Given the description of an element on the screen output the (x, y) to click on. 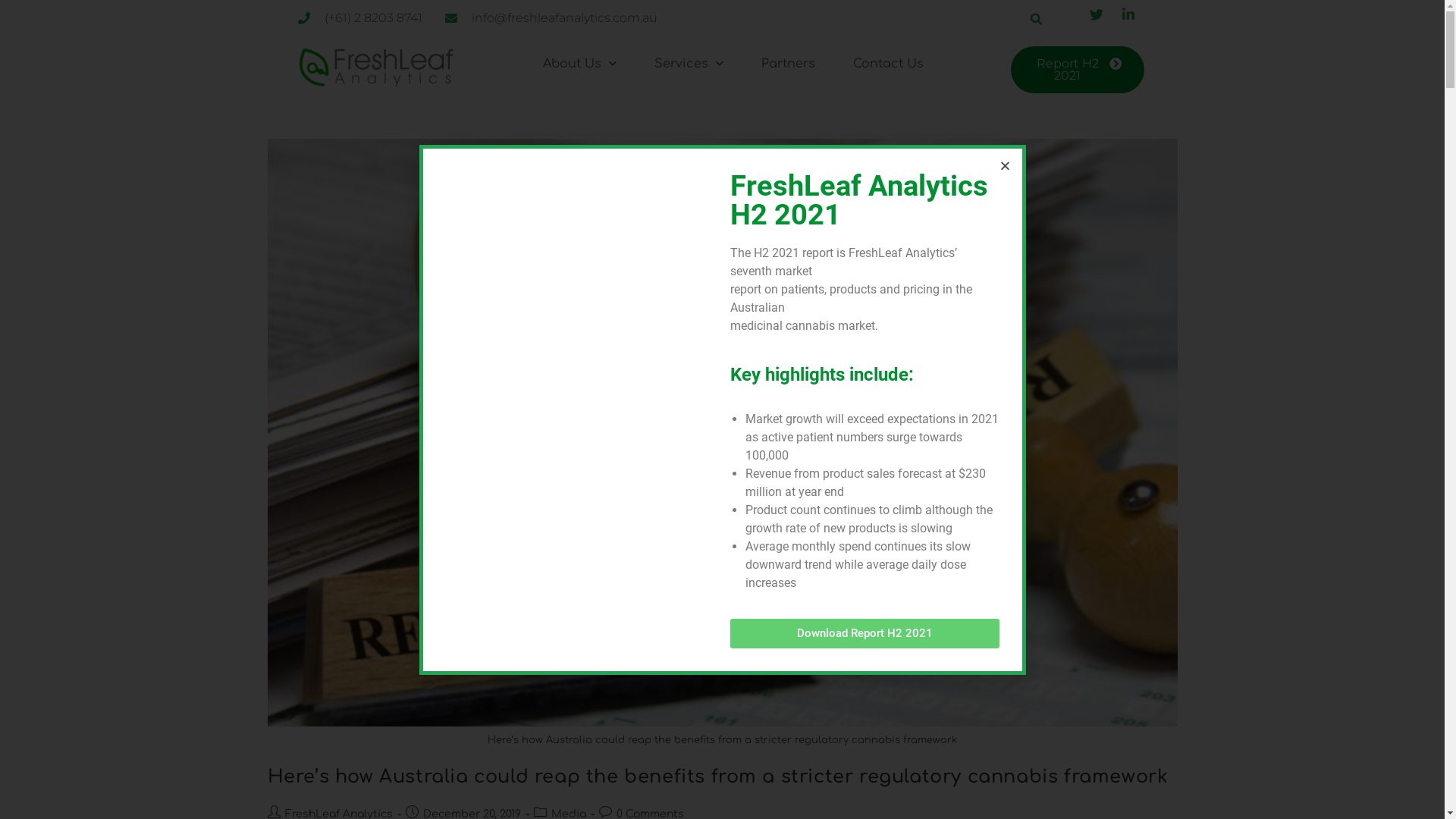
About Us Element type: text (579, 63)
(+61) 2 8203 8741 Element type: text (359, 18)
Contact Us Element type: text (888, 63)
Report H2 2021 Element type: text (1077, 69)
Services Element type: text (688, 63)
Partners Element type: text (788, 63)
info@freshleafanalytics.com.au Element type: text (550, 18)
Download Report H2 2021 Element type: text (863, 633)
